Given the description of an element on the screen output the (x, y) to click on. 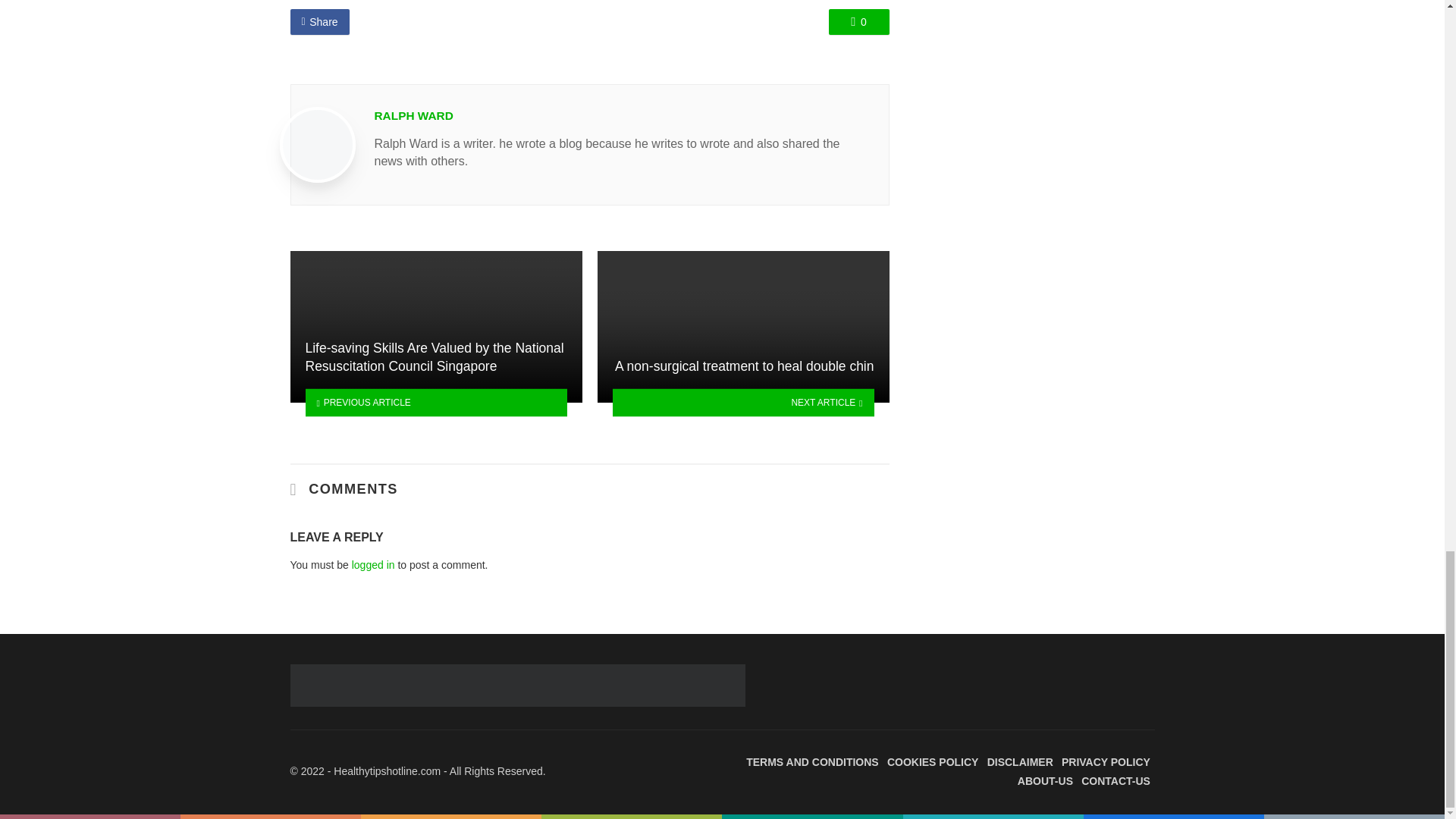
Posts by Ralph Ward (413, 115)
0 Comments (858, 22)
Share (319, 22)
logged in (373, 564)
NEXT ARTICLE (742, 402)
PREVIOUS ARTICLE (434, 402)
Share on Facebook (319, 22)
RALPH WARD (413, 115)
0 (858, 22)
